Given the description of an element on the screen output the (x, y) to click on. 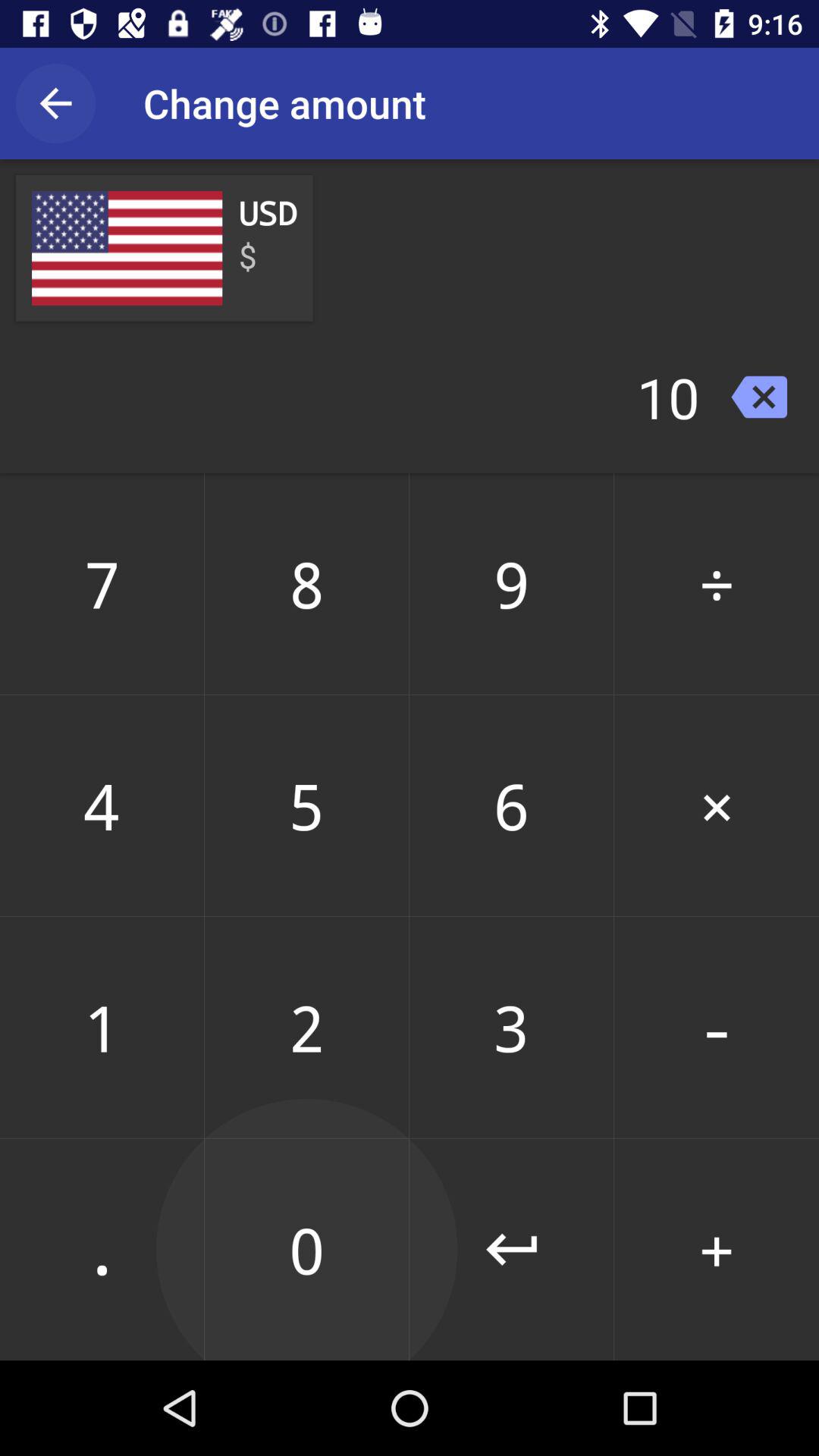
turn off the item to the left of the change amount (55, 103)
